Given the description of an element on the screen output the (x, y) to click on. 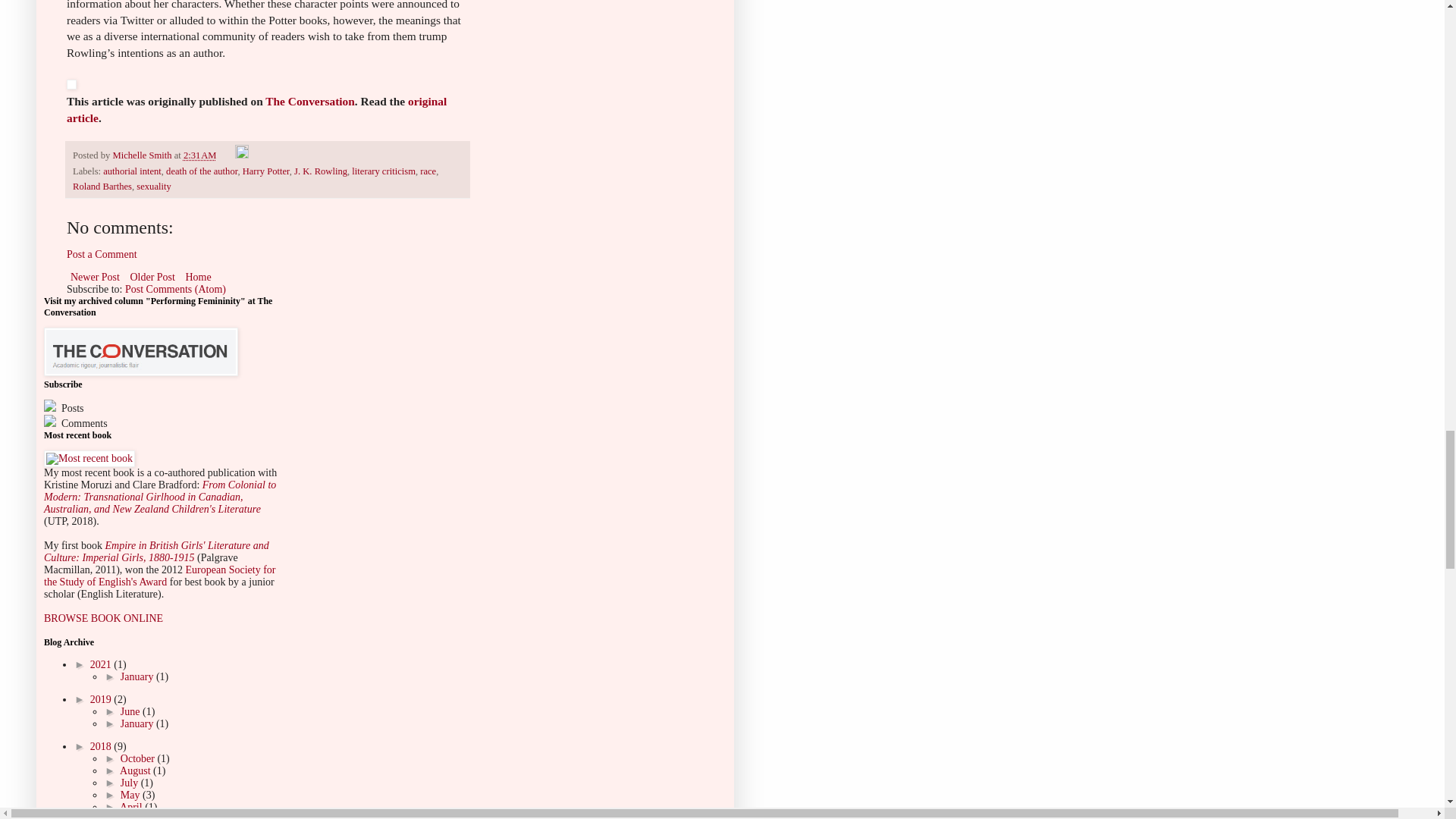
Email Post (226, 154)
Michelle Smith (142, 154)
Edit Post (241, 154)
Home (197, 276)
permanent link (199, 154)
literary criticism (383, 171)
Newer Post (94, 276)
J. K. Rowling (320, 171)
original article (256, 109)
race (427, 171)
authorial intent (132, 171)
The Conversation (309, 101)
Post a Comment (101, 254)
Roland Barthes (102, 185)
